Given the description of an element on the screen output the (x, y) to click on. 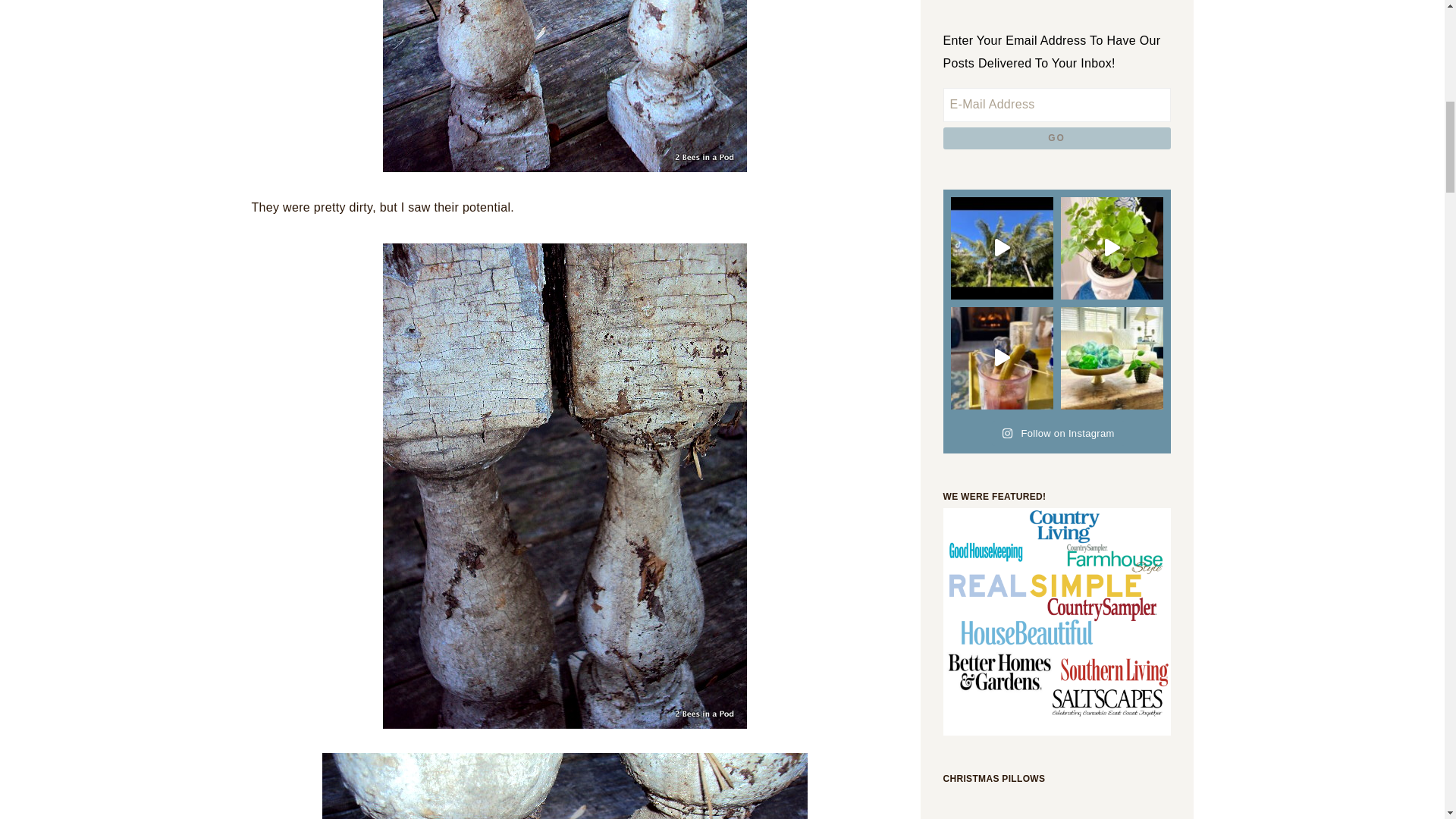
Go (1056, 138)
